Given the description of an element on the screen output the (x, y) to click on. 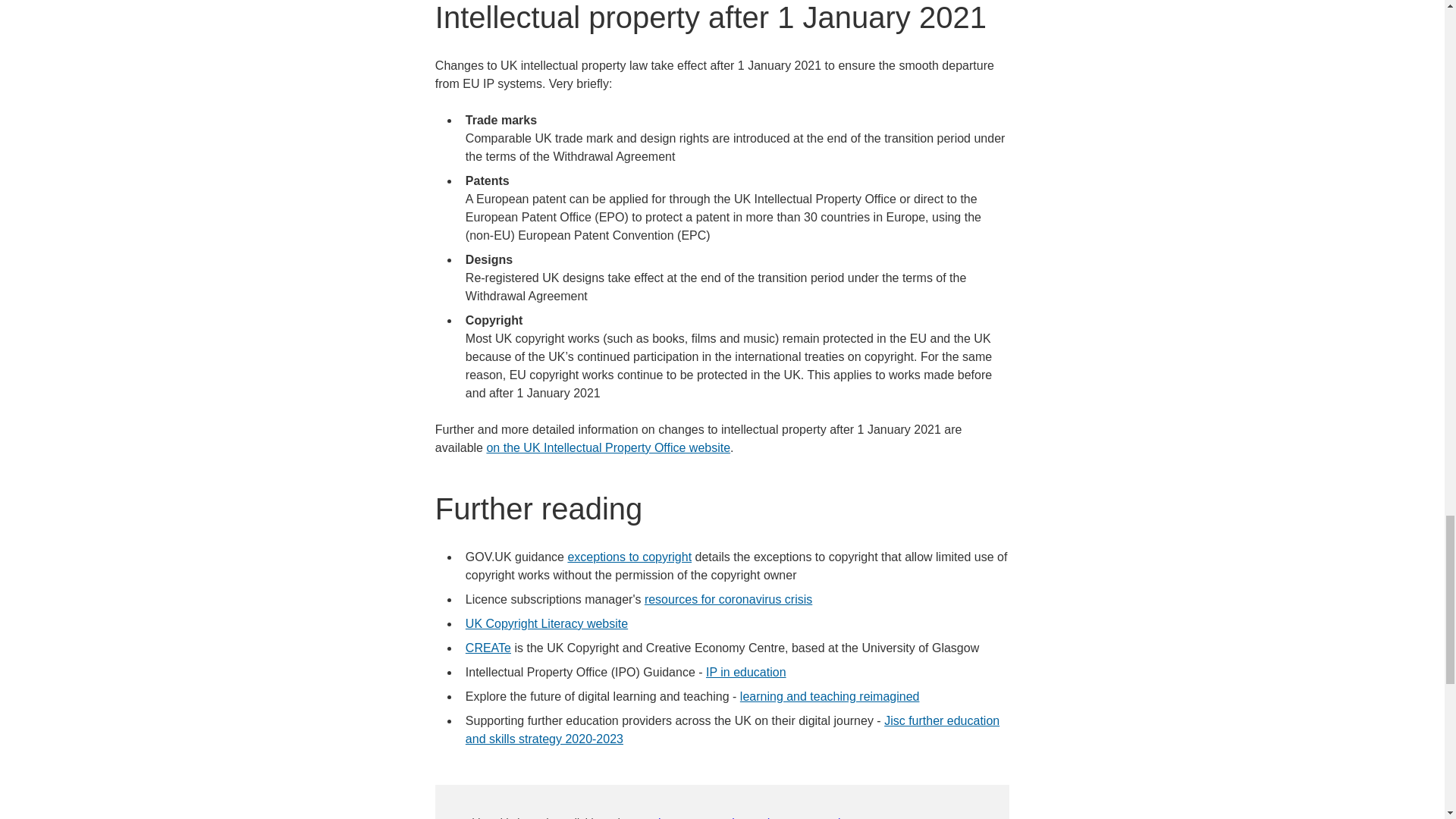
Jisc further education and skills strategy 2020-2023 (731, 729)
UK Copyright Literacy website (546, 623)
CREATe (488, 647)
learning and teaching reimagined (829, 696)
IP in education (746, 671)
resources for coronavirus crisis (728, 599)
exceptions to copyright (629, 556)
on the UK Intellectual Property Office website (608, 447)
